Given the description of an element on the screen output the (x, y) to click on. 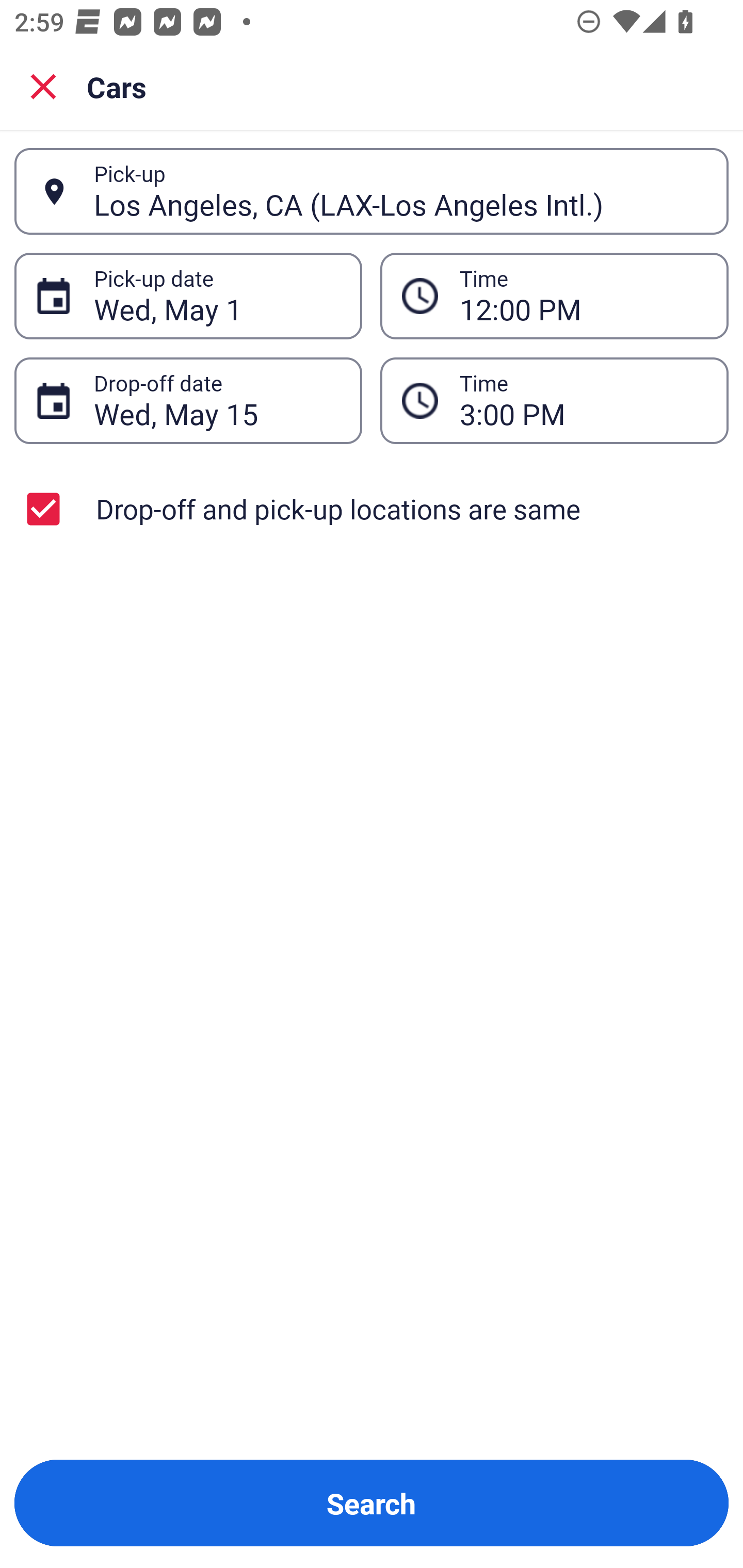
Close search screen (43, 86)
Los Angeles, CA (LAX-Los Angeles Intl.) Pick-up (371, 191)
Los Angeles, CA (LAX-Los Angeles Intl.) (399, 191)
Wed, May 1 Pick-up date (188, 295)
12:00 PM (554, 295)
Wed, May 1 (216, 296)
12:00 PM (582, 296)
Wed, May 15 Drop-off date (188, 400)
3:00 PM (554, 400)
Wed, May 15 (216, 400)
3:00 PM (582, 400)
Drop-off and pick-up locations are same (371, 508)
Search Button Search (371, 1502)
